Given the description of an element on the screen output the (x, y) to click on. 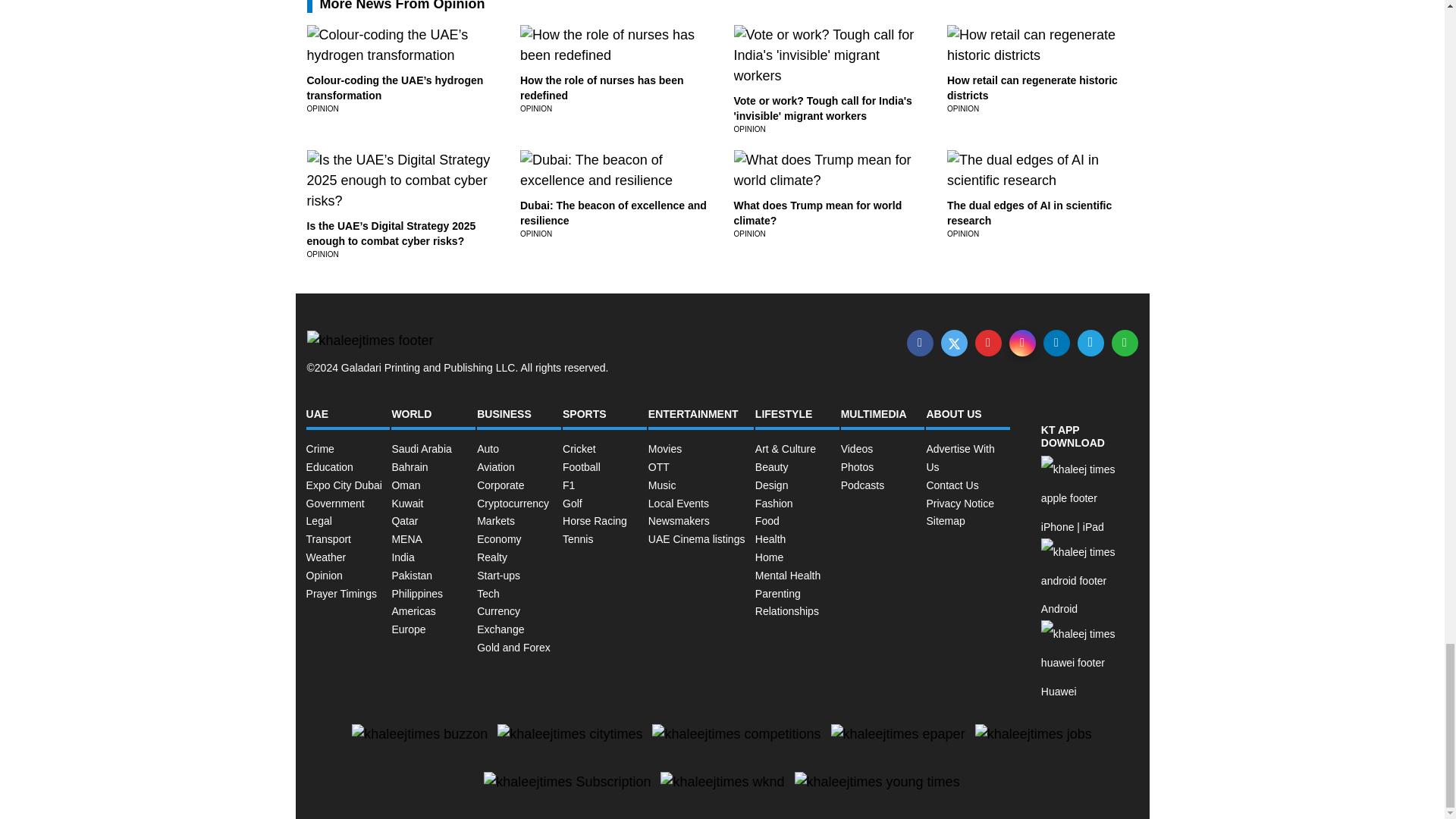
How the role of nurses has been redefined (601, 87)
What does Trump mean for world climate? (817, 212)
How retail can regenerate historic districts (1032, 87)
Dubai: The beacon of excellence and resilience (612, 212)
The dual edges of AI in scientific research (1029, 212)
